Given the description of an element on the screen output the (x, y) to click on. 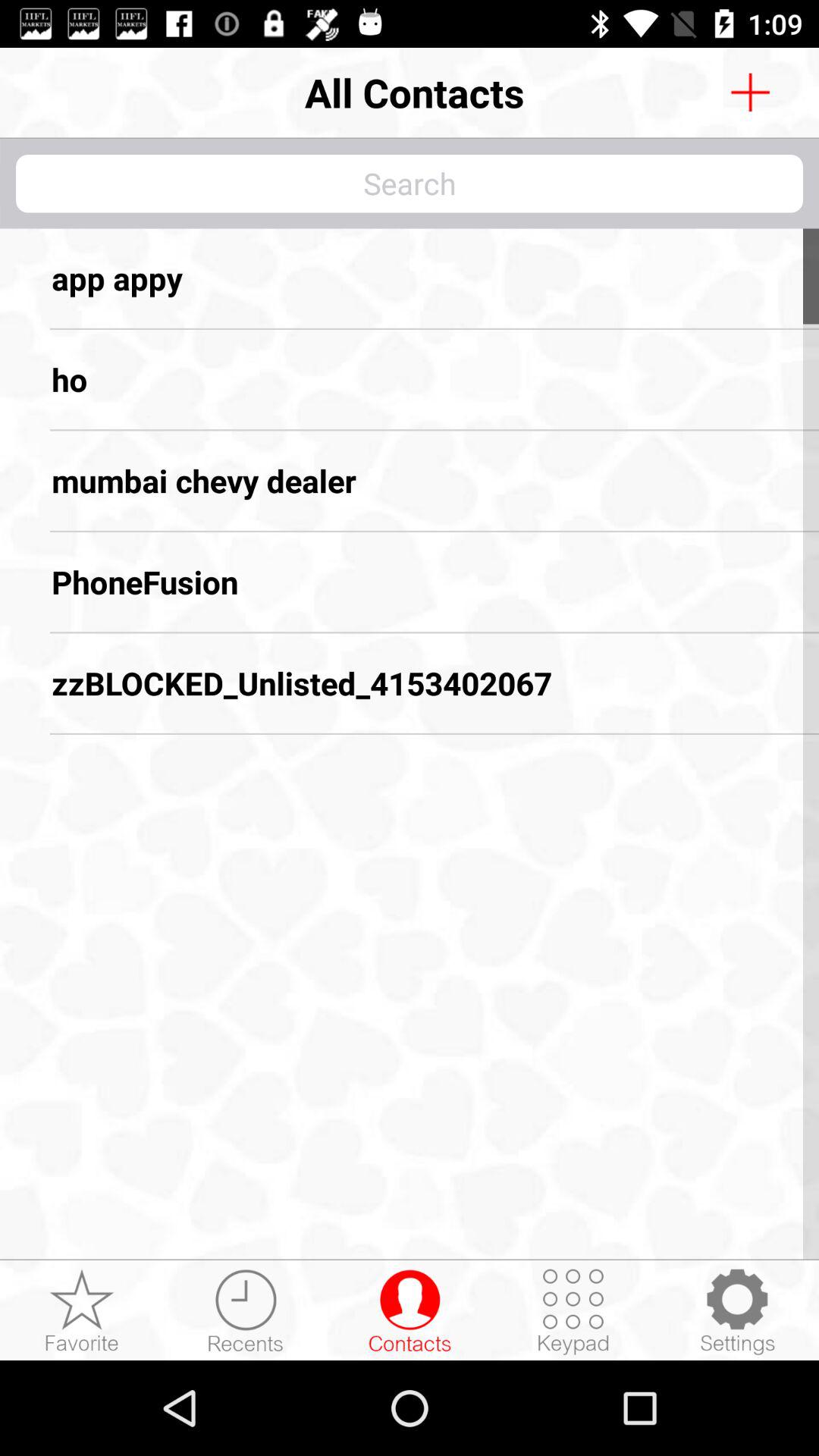
favourite (81, 1311)
